Given the description of an element on the screen output the (x, y) to click on. 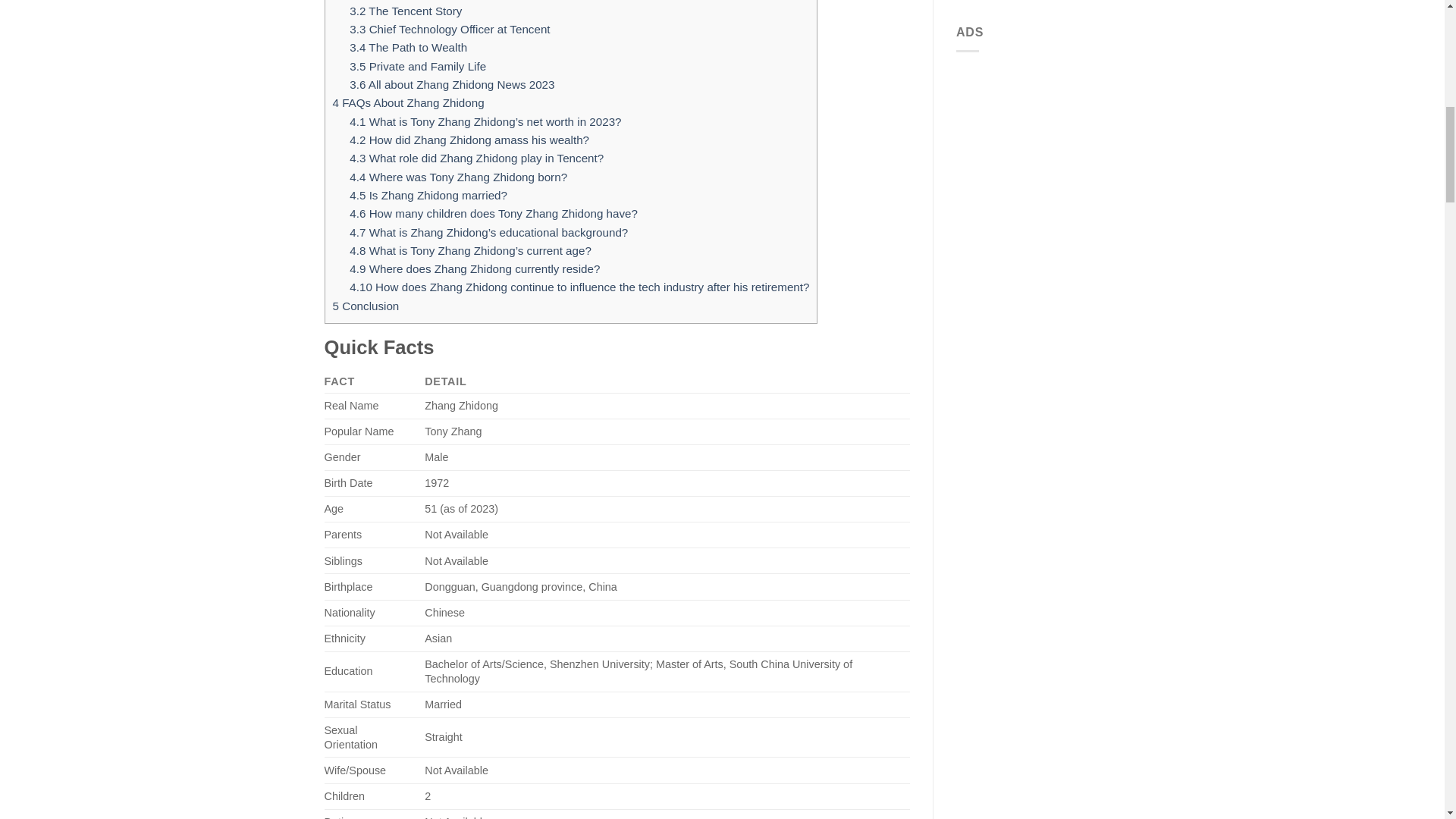
3.3 Chief Technology Officer at Tencent (449, 29)
3.5 Private and Family Life (417, 65)
4.6 How many children does Tony Zhang Zhidong have? (493, 213)
3.4 The Path to Wealth (408, 47)
4.9 Where does Zhang Zhidong currently reside? (474, 268)
5 Conclusion (364, 305)
3.6 All about Zhang Zhidong News 2023 (451, 83)
4.5 Is Zhang Zhidong married? (427, 195)
4.2 How did Zhang Zhidong amass his wealth? (469, 139)
